Given the description of an element on the screen output the (x, y) to click on. 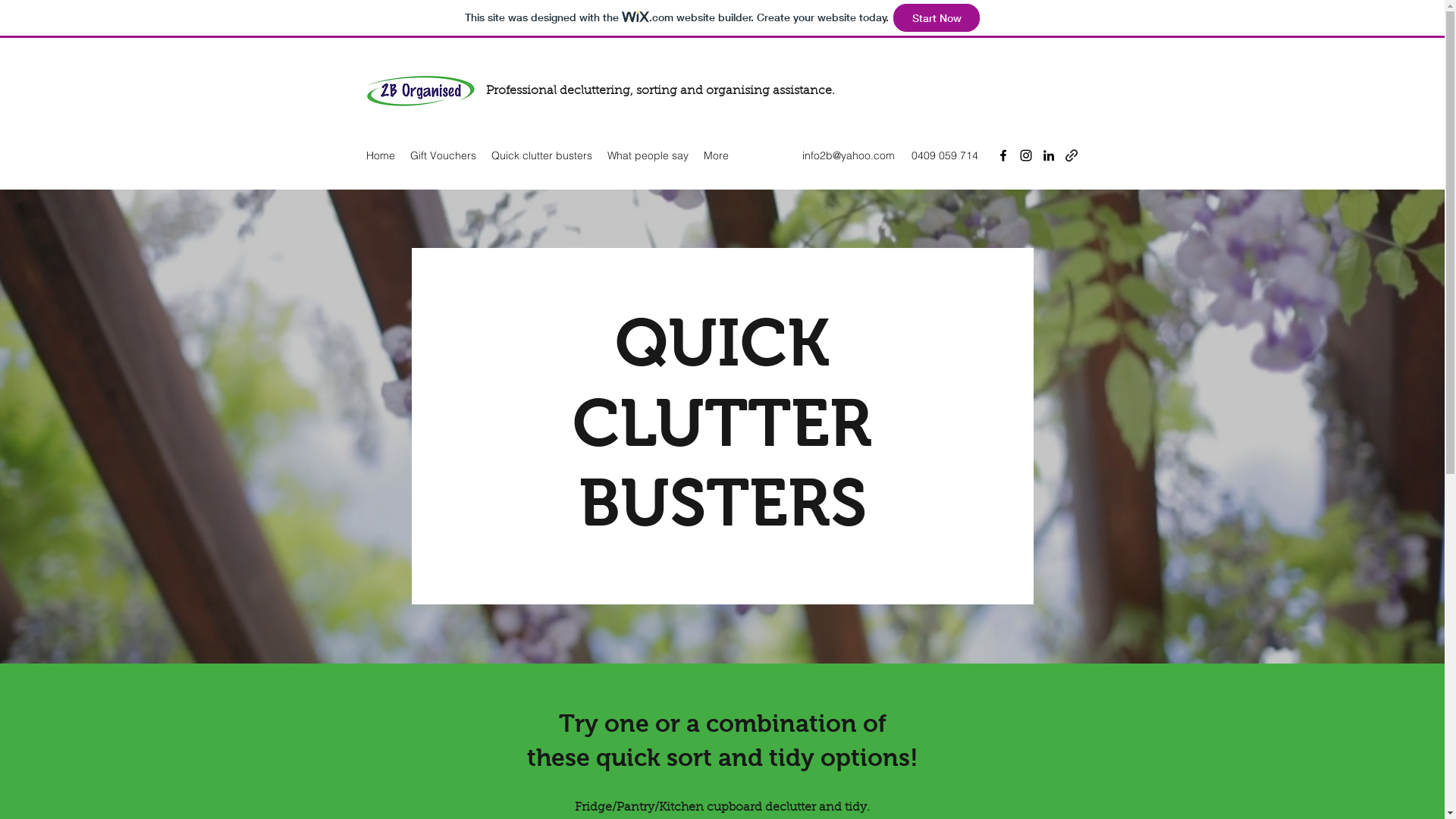
Quick clutter busters Element type: text (541, 155)
What people say Element type: text (647, 155)
Gift Vouchers Element type: text (442, 155)
info2b@yahoo.com Element type: text (848, 155)
Home Element type: text (379, 155)
